Given the description of an element on the screen output the (x, y) to click on. 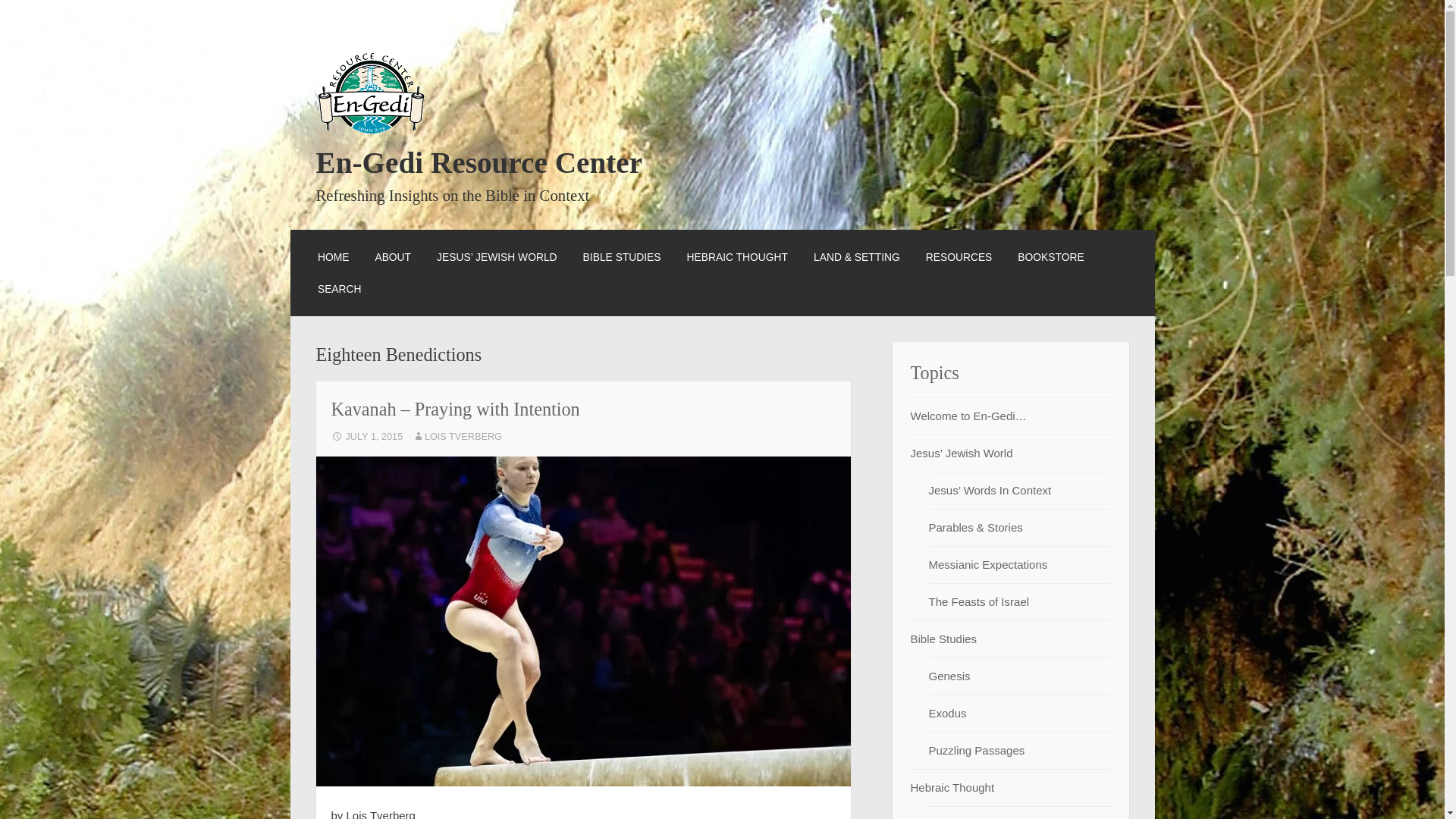
HEBRAIC THOUGHT (737, 256)
En-Gedi Resource Center (478, 162)
BIBLE STUDIES (622, 256)
BOOKSTORE (1050, 256)
RESOURCES (959, 256)
JULY 1, 2015 (366, 436)
SEARCH (339, 288)
HOME (333, 256)
View all posts by Lois Tverberg (457, 436)
ABOUT (392, 256)
LOIS TVERBERG (457, 436)
En-Gedi Resource Center (478, 162)
